Given the description of an element on the screen output the (x, y) to click on. 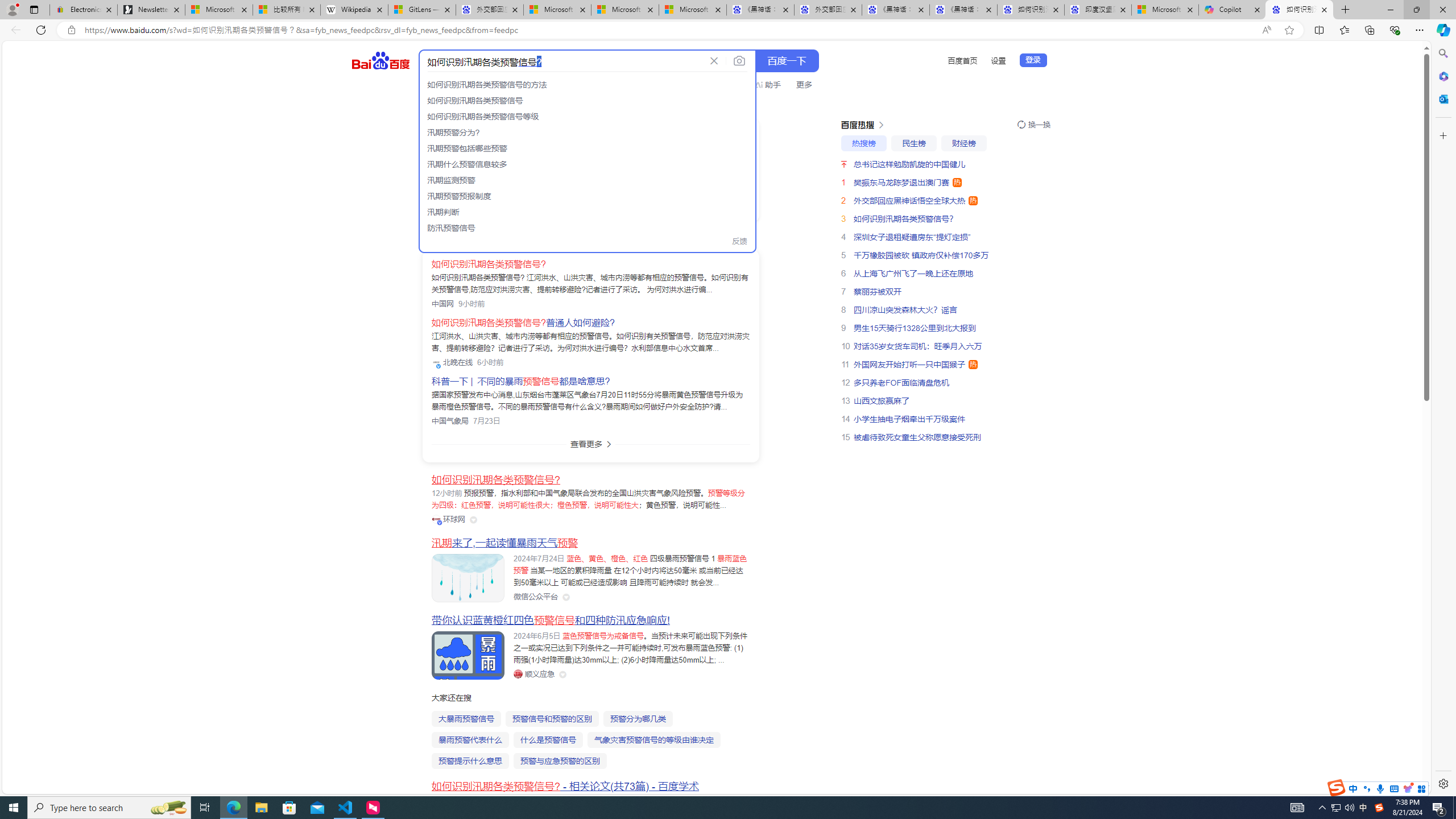
Class: sc-link _link_kwqvb_2 -v-color-primary block (508, 168)
